Given the description of an element on the screen output the (x, y) to click on. 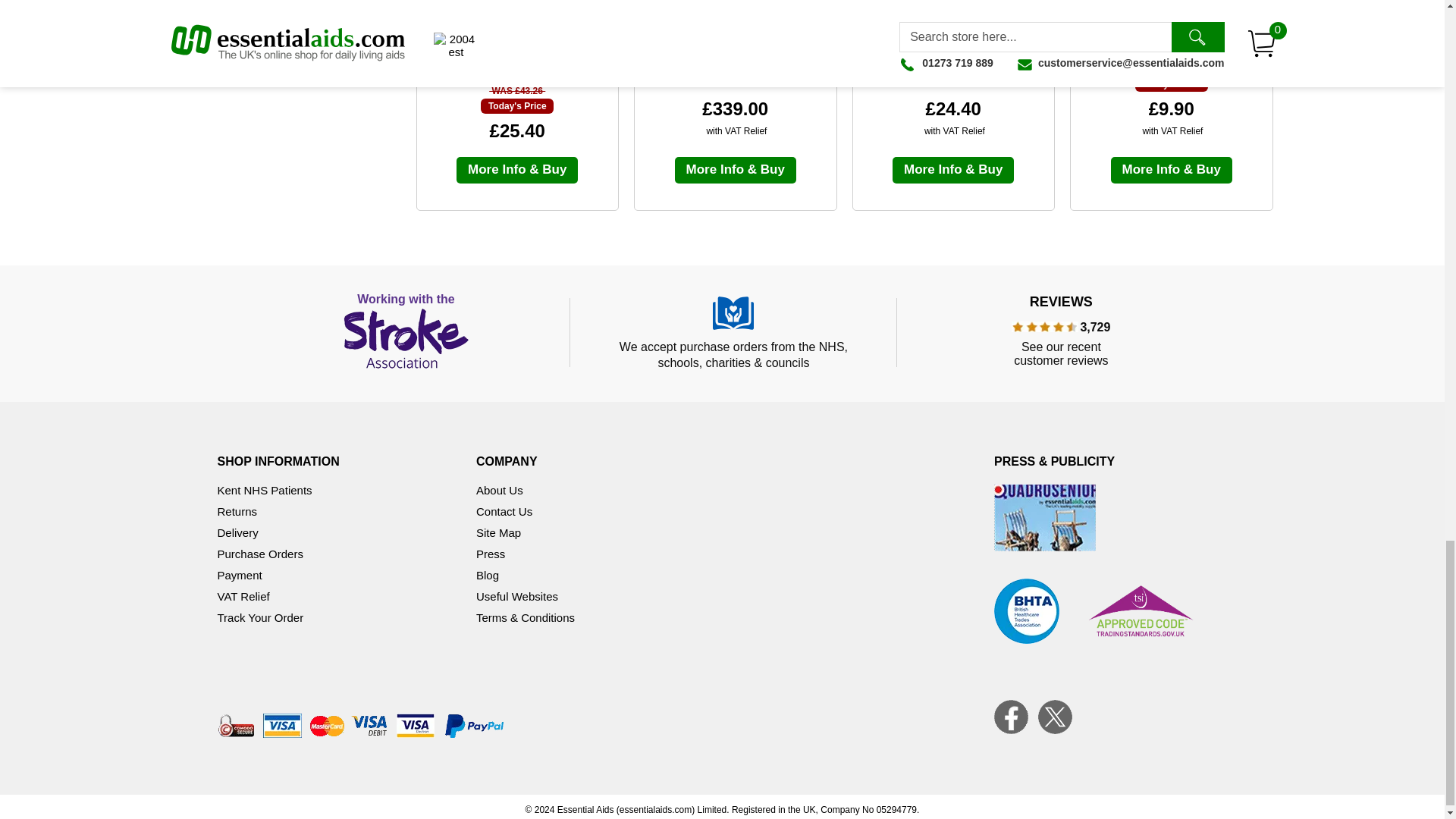
Purchase Orders (259, 553)
Stroke Association (406, 332)
Returns (236, 511)
Kent NHS Patients (263, 490)
Delivery (236, 532)
Payment (239, 574)
